Given the description of an element on the screen output the (x, y) to click on. 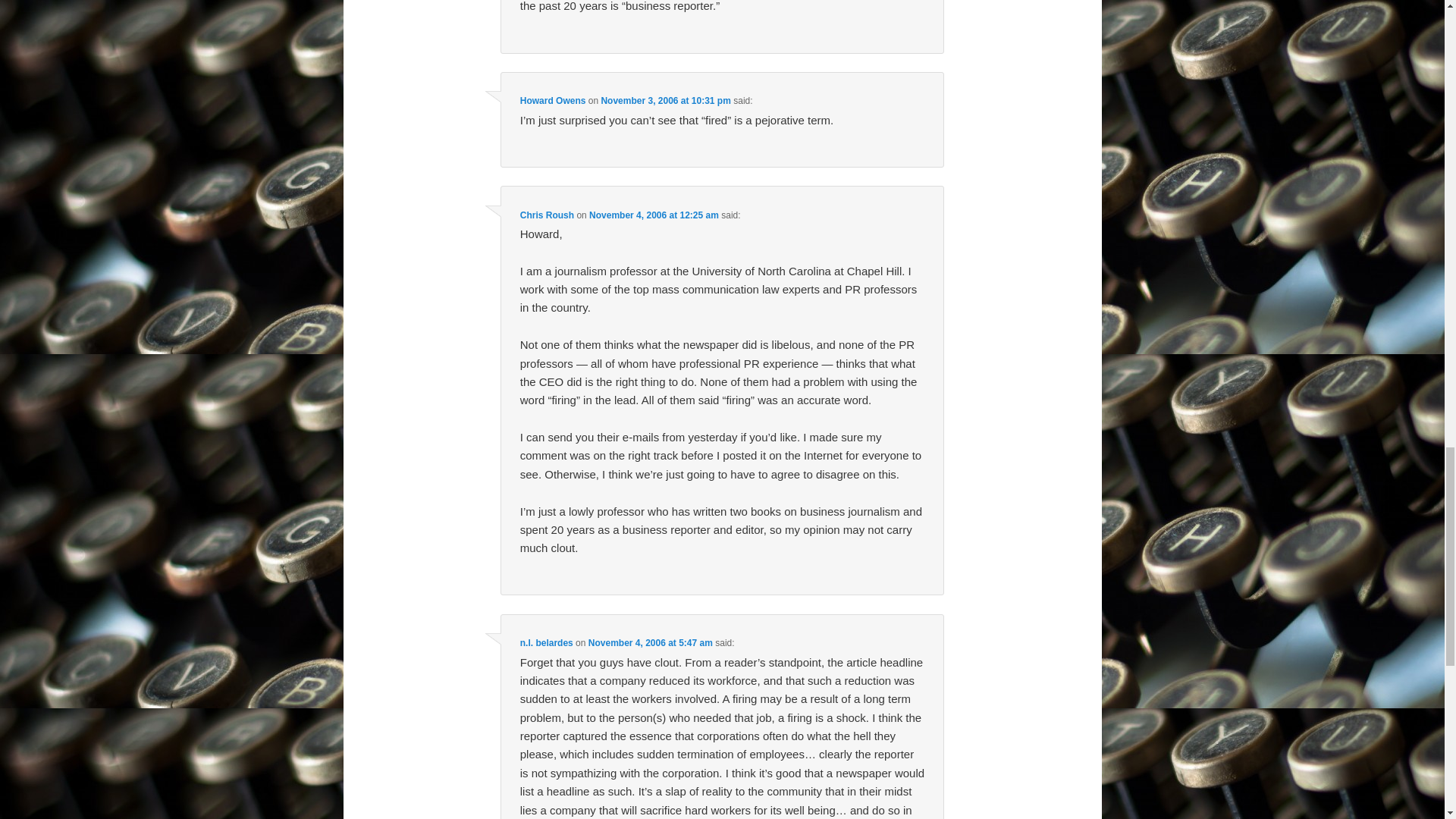
November 3, 2006 at 10:31 pm (664, 100)
Chris Roush (546, 214)
Howard Owens (552, 100)
n.l. belardes (546, 643)
November 4, 2006 at 5:47 am (650, 643)
November 4, 2006 at 12:25 am (654, 214)
